Given the description of an element on the screen output the (x, y) to click on. 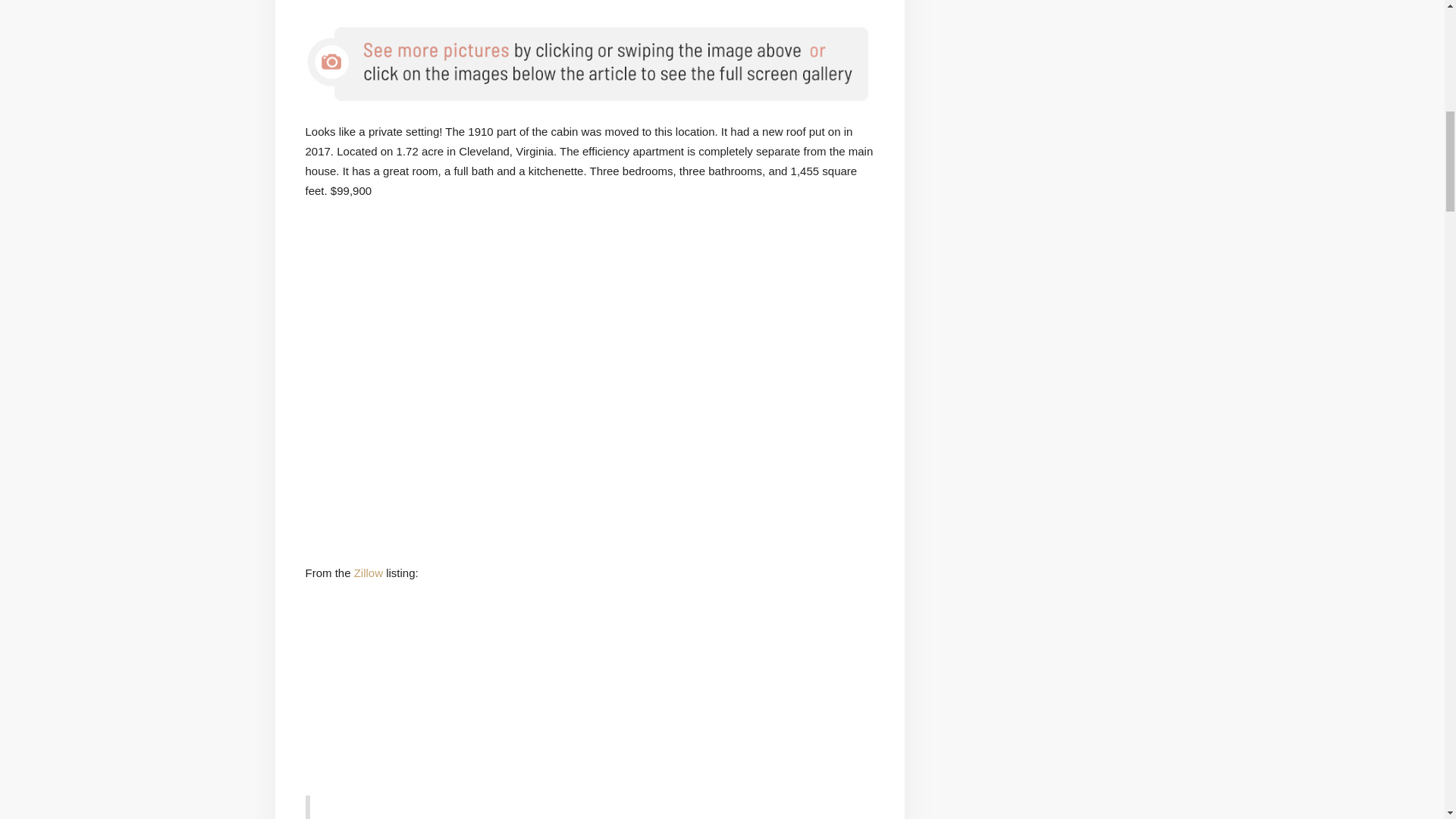
Zillow (367, 572)
